Given the description of an element on the screen output the (x, y) to click on. 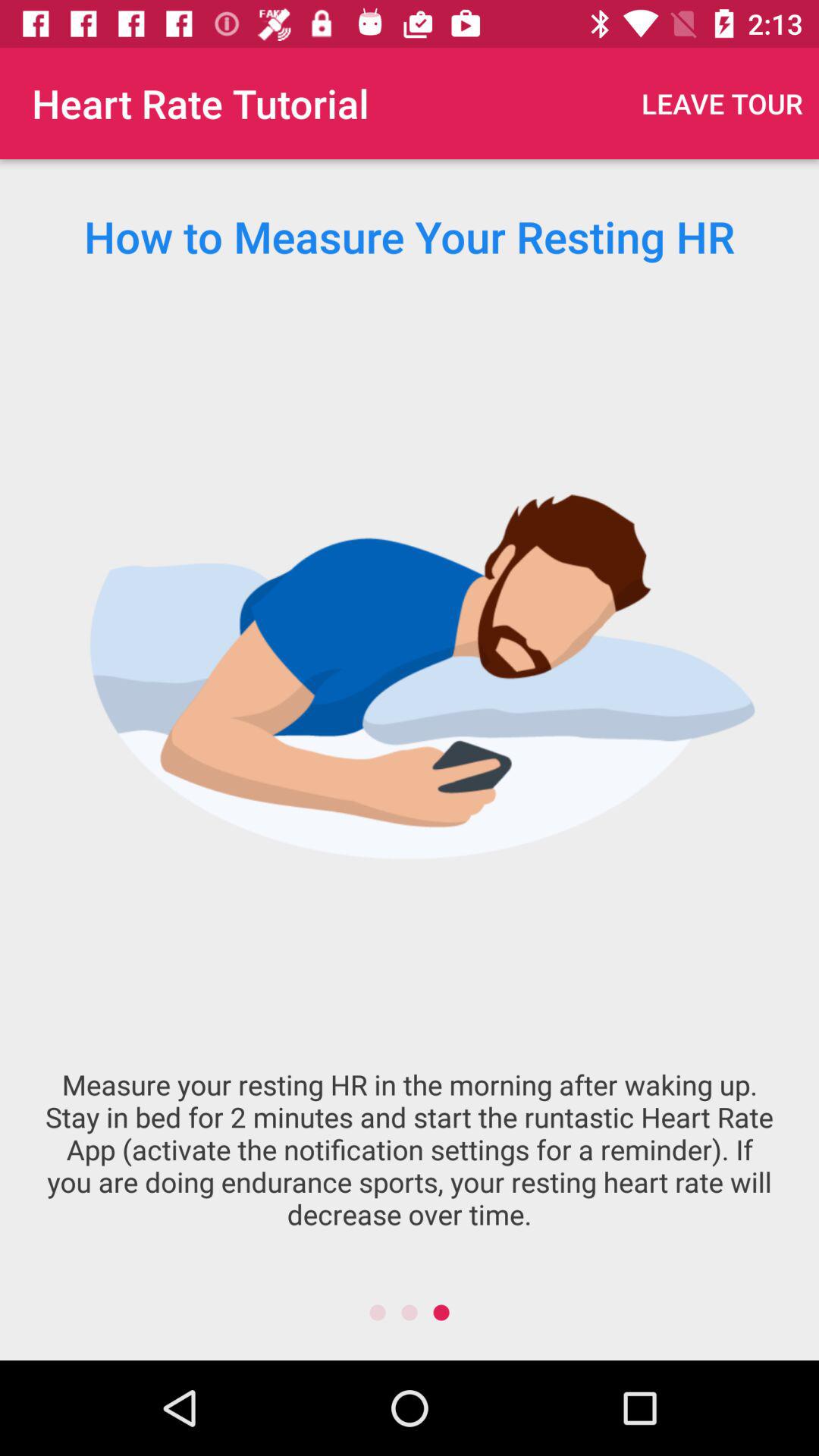
choose leave tour icon (722, 103)
